Given the description of an element on the screen output the (x, y) to click on. 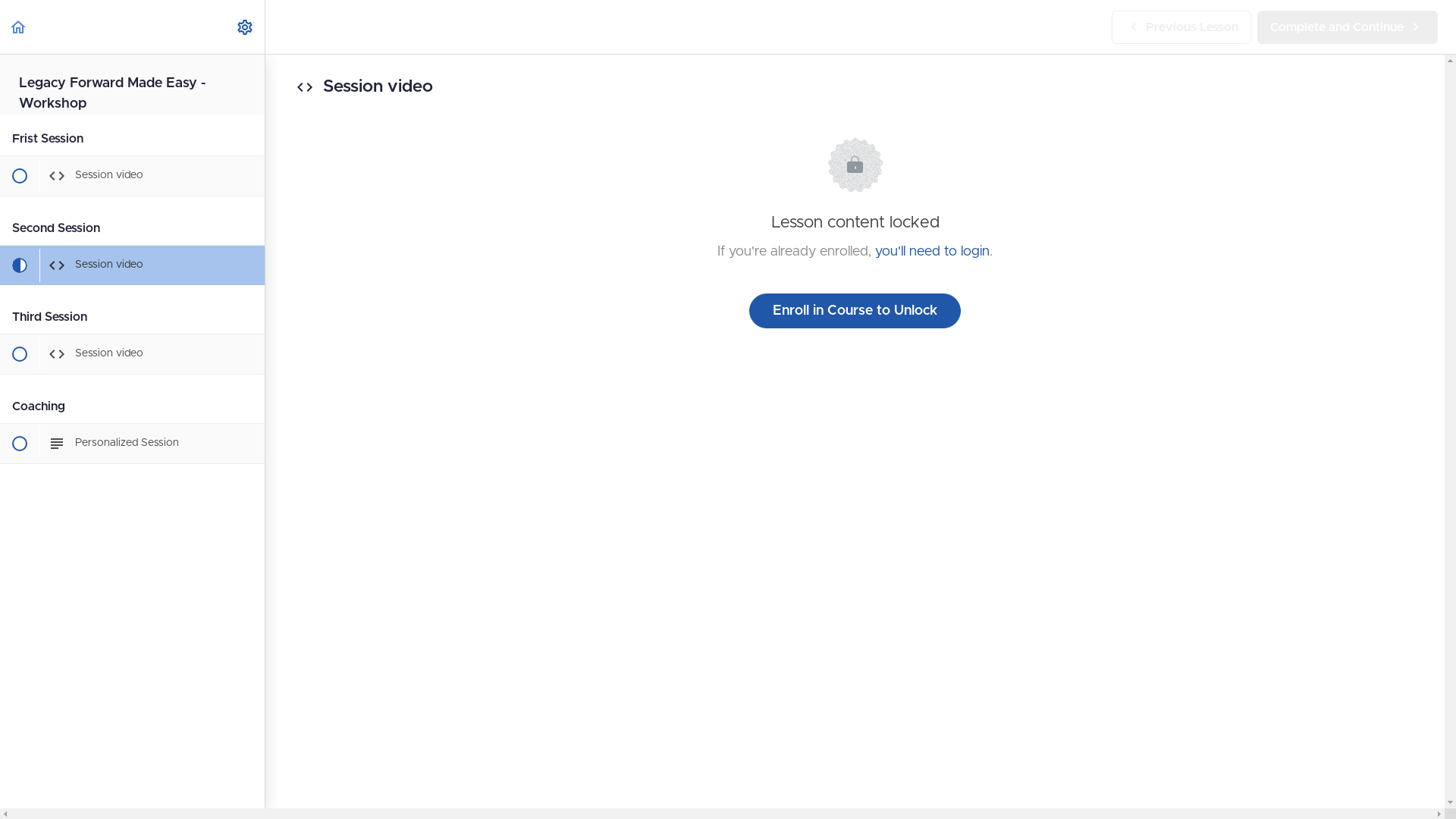
  Personalized Session Element type: text (132, 443)
  Session video Element type: text (132, 265)
Enroll in Course to Unlock Element type: text (854, 310)
  Session video Element type: text (132, 353)
Settings Menu Element type: hover (244, 27)
you'll need to login Element type: text (932, 251)
Complete and Continue
  Element type: text (1347, 26)
  Session video Element type: text (132, 175)
Back to course curriculum Element type: hover (18, 27)
  Previous Lesson Element type: text (1181, 26)
